Given the description of an element on the screen output the (x, y) to click on. 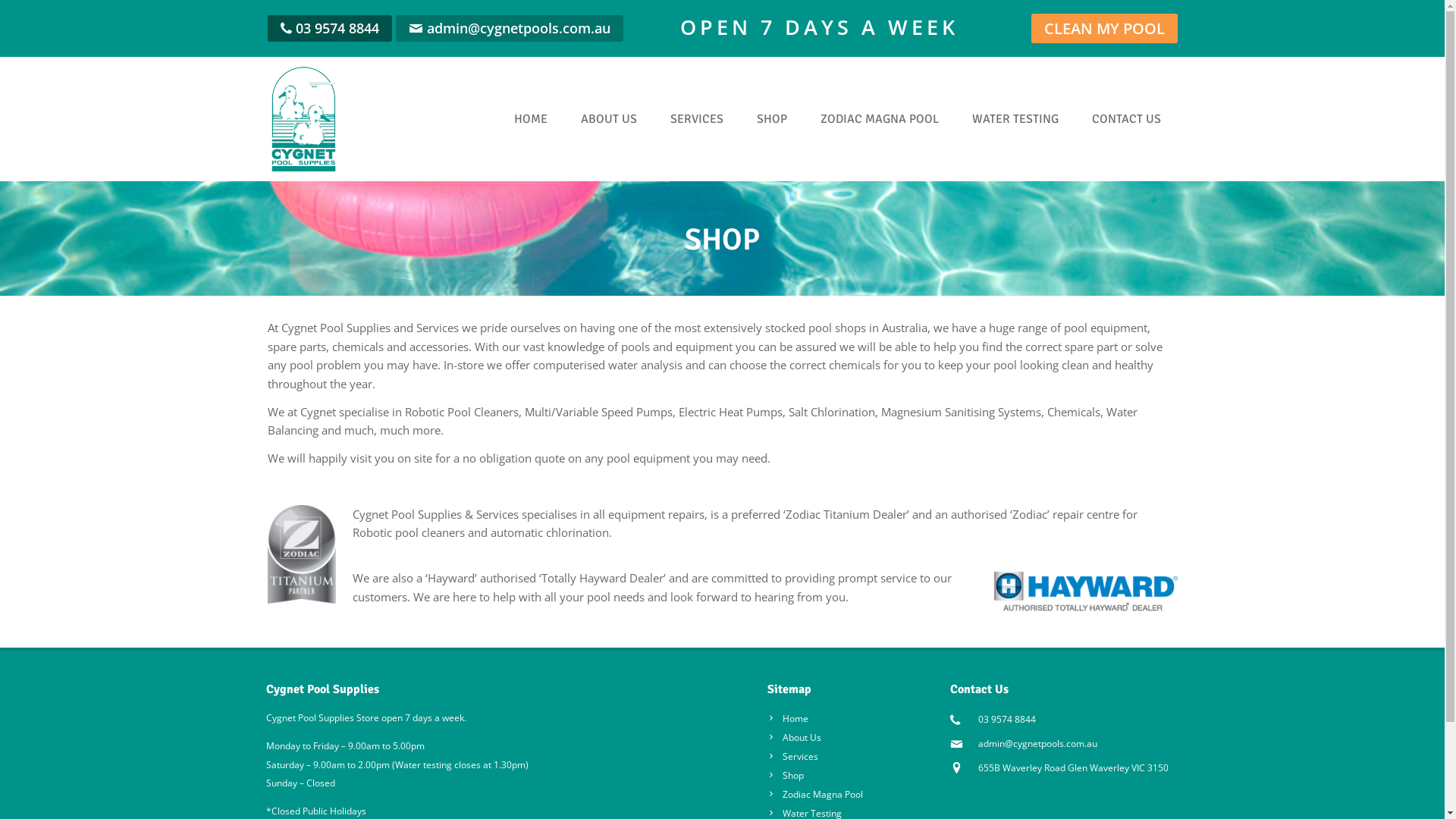
admin@cygnetpools.com.au Element type: text (517, 27)
admin@cygnetpools.com.au Element type: text (1037, 743)
03 9574 8844 Element type: text (337, 27)
CONTACT US Element type: text (1126, 118)
Home Element type: text (787, 718)
CLEAN MY POOL Element type: text (1104, 28)
WATER TESTING Element type: text (1015, 118)
ZODIAC MAGNA POOL Element type: text (879, 118)
ABOUT US Element type: text (608, 118)
SHOP Element type: text (771, 118)
Zodiac Magna Pool Element type: text (814, 793)
HOME Element type: text (530, 118)
Services Element type: text (792, 755)
SERVICES Element type: text (696, 118)
About Us Element type: text (794, 737)
Shop Element type: text (785, 774)
